Given the description of an element on the screen output the (x, y) to click on. 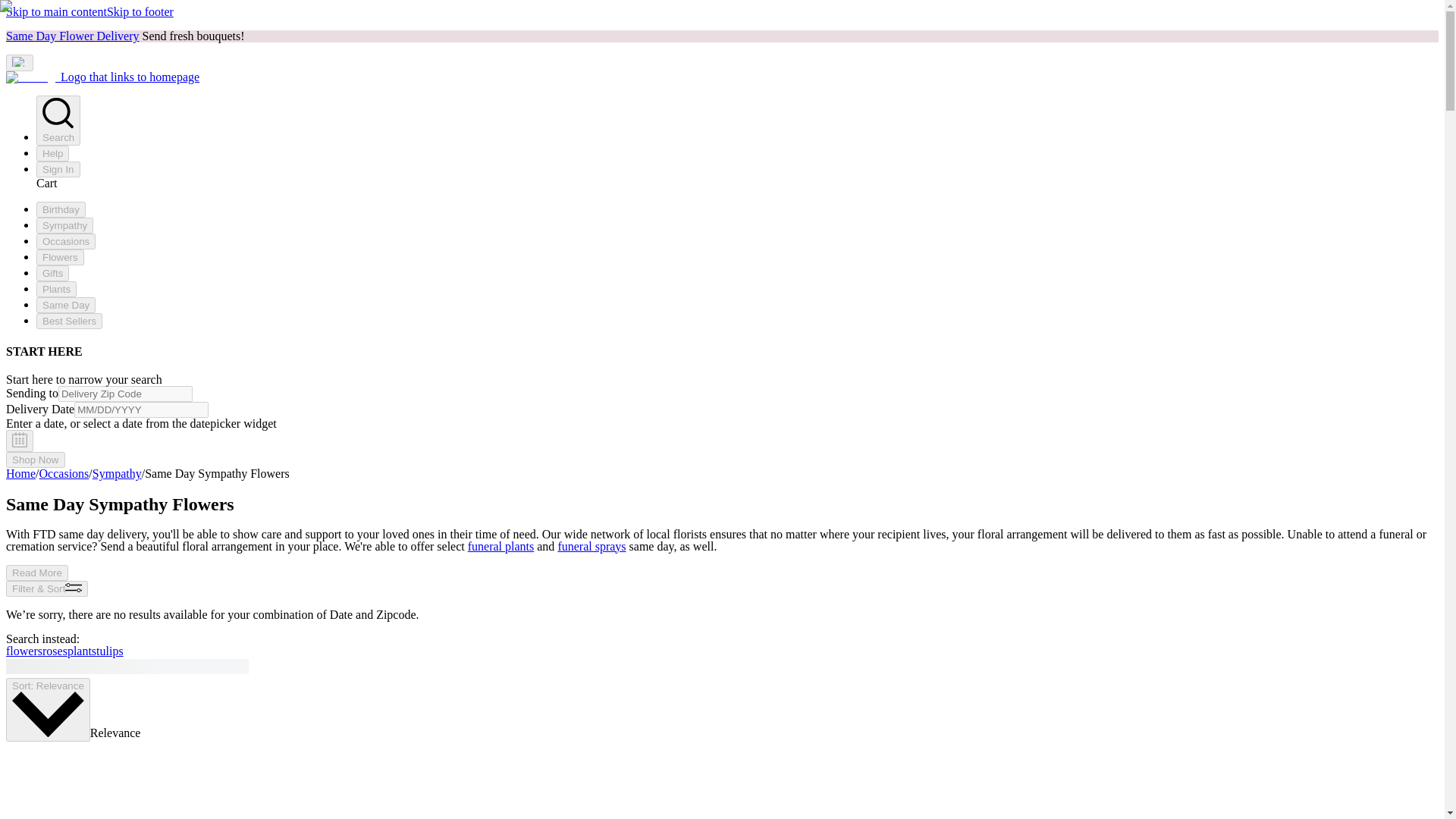
Help (52, 153)
Sign In (58, 169)
Skip to footer (139, 11)
Sympathy (64, 225)
Skip to main content (55, 11)
Same Day Flower Delivery (72, 35)
Logo that links to homepage (102, 76)
Birthday (60, 209)
